Given the description of an element on the screen output the (x, y) to click on. 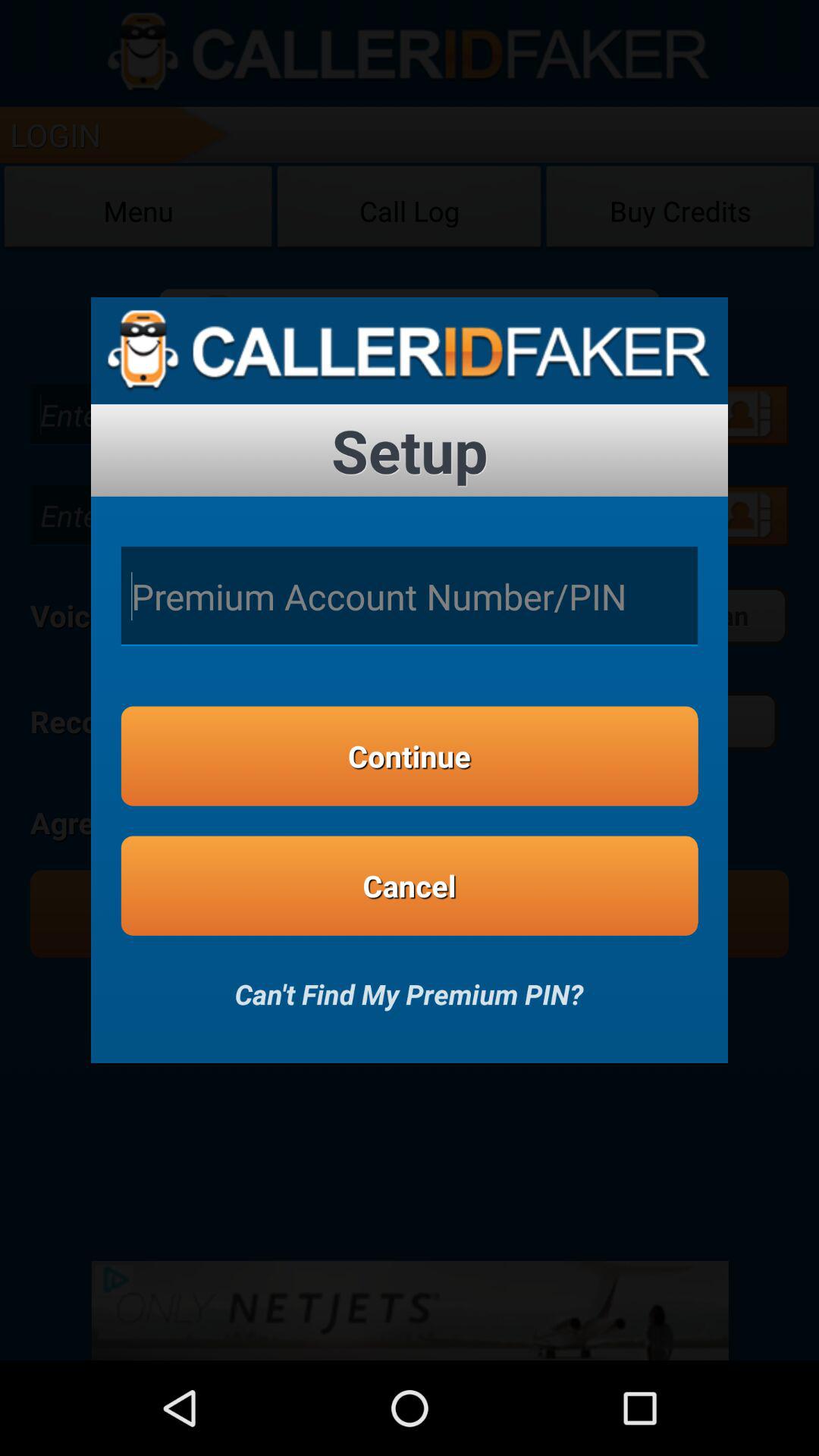
tap cancel (409, 885)
